Given the description of an element on the screen output the (x, y) to click on. 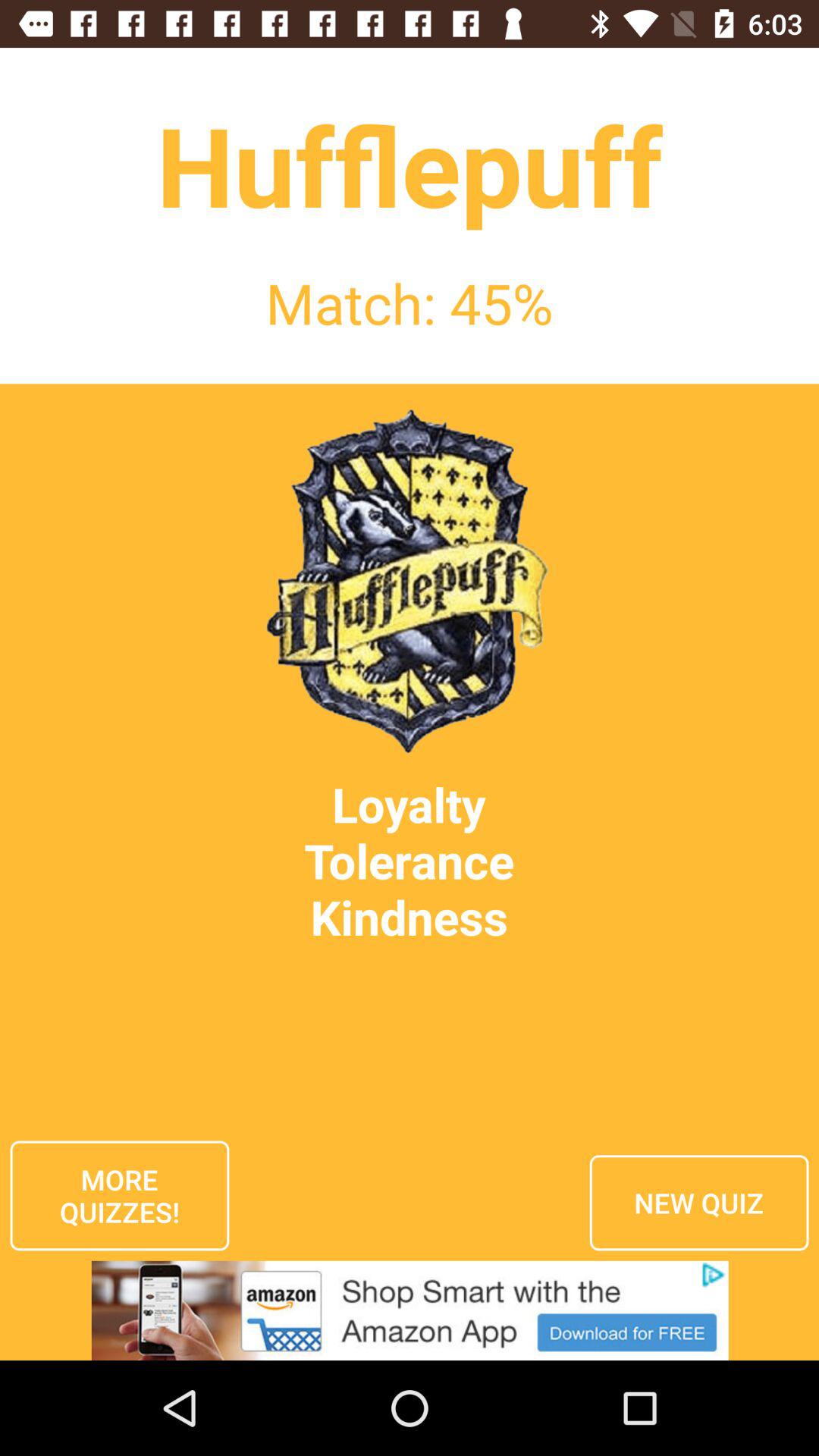
go amazon app (409, 1310)
